Given the description of an element on the screen output the (x, y) to click on. 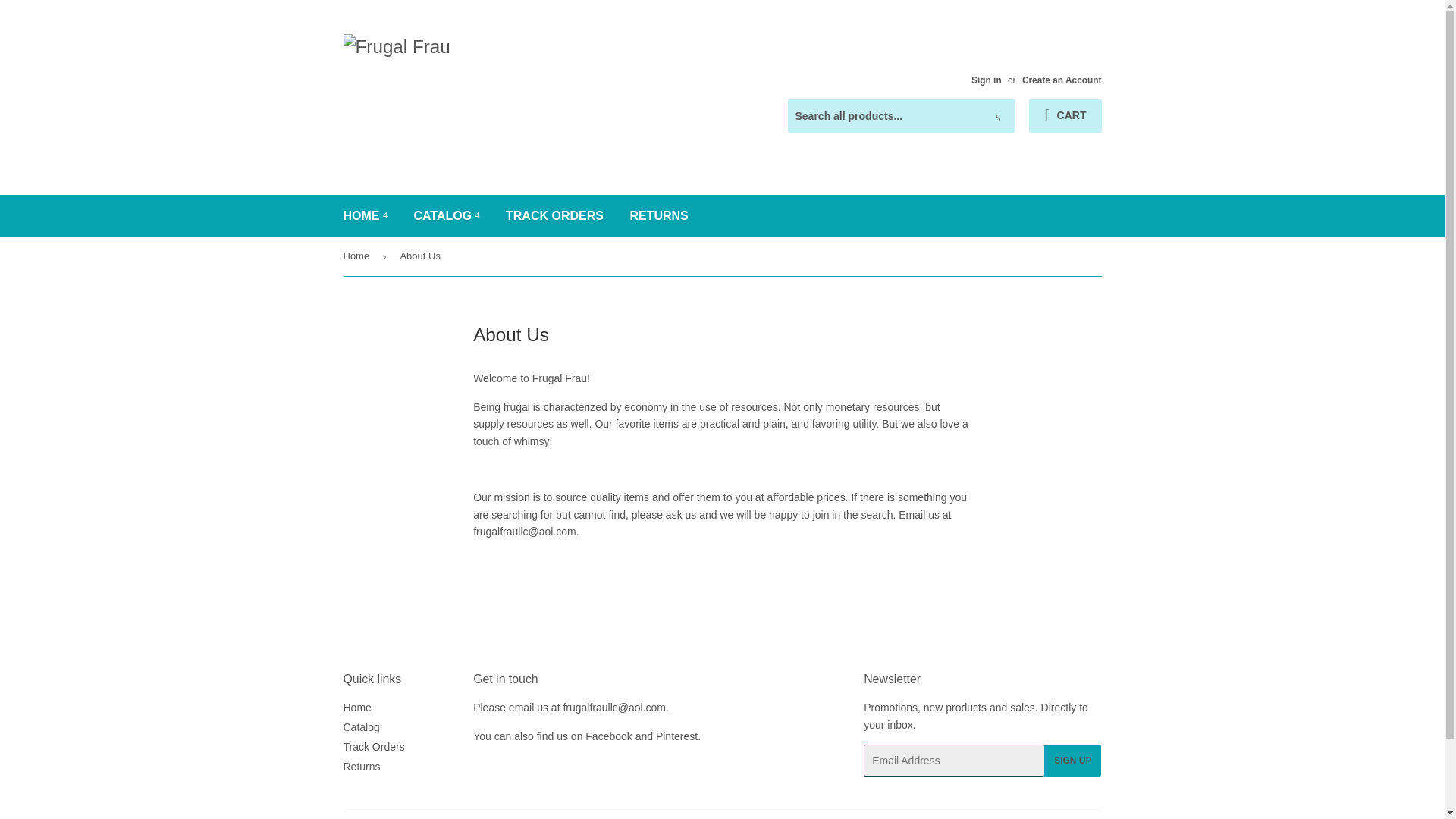
Search (997, 116)
Catalog (360, 727)
Back to the frontpage (358, 255)
Returns (361, 766)
Home (356, 707)
CATALOG (445, 215)
TRACK ORDERS (554, 215)
SIGN UP (1071, 760)
HOME (364, 215)
Home (358, 255)
Track Orders (373, 746)
Create an Account (1062, 80)
CART (1064, 115)
RETURNS (657, 215)
Sign in (986, 80)
